Given the description of an element on the screen output the (x, y) to click on. 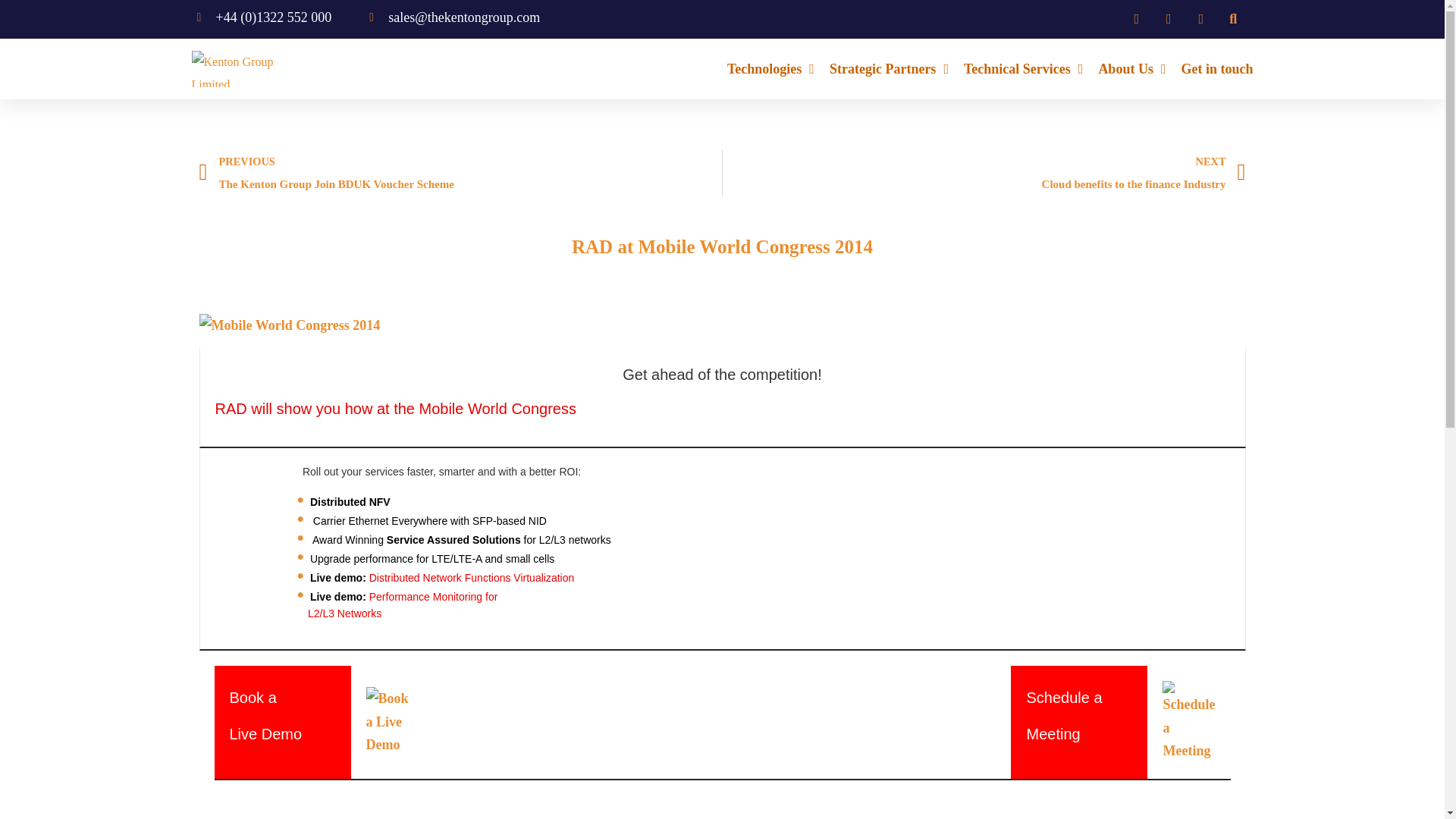
Technical Services (1023, 68)
About Us (1131, 68)
Strategic Partners (889, 68)
Technologies (769, 68)
RAD at Mobile World Congress 2014 1 (289, 325)
Skip to content (11, 31)
RAD at Mobile World Congress 2014 2 (387, 721)
RAD at Mobile World Congress 2014 3 (1187, 721)
